Given the description of an element on the screen output the (x, y) to click on. 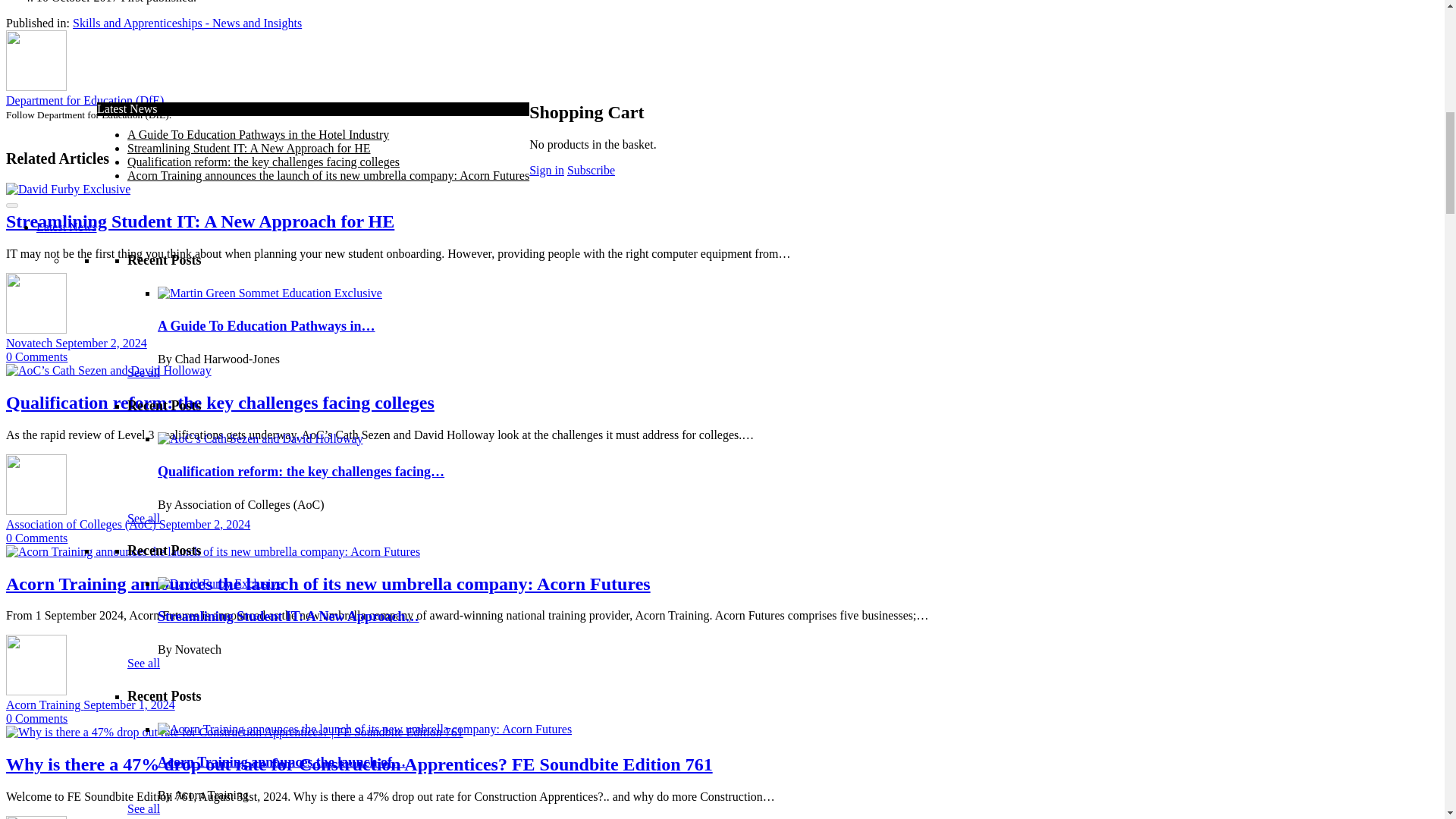
Sign in (240, 117)
See all (144, 277)
Exclusives (62, 131)
EdTech - News on Education Technology (228, 49)
Work and leadership (177, 76)
Skills and Apprenticeships - News and Insights (242, 90)
See all (144, 421)
Subscribe (166, 117)
